Given the description of an element on the screen output the (x, y) to click on. 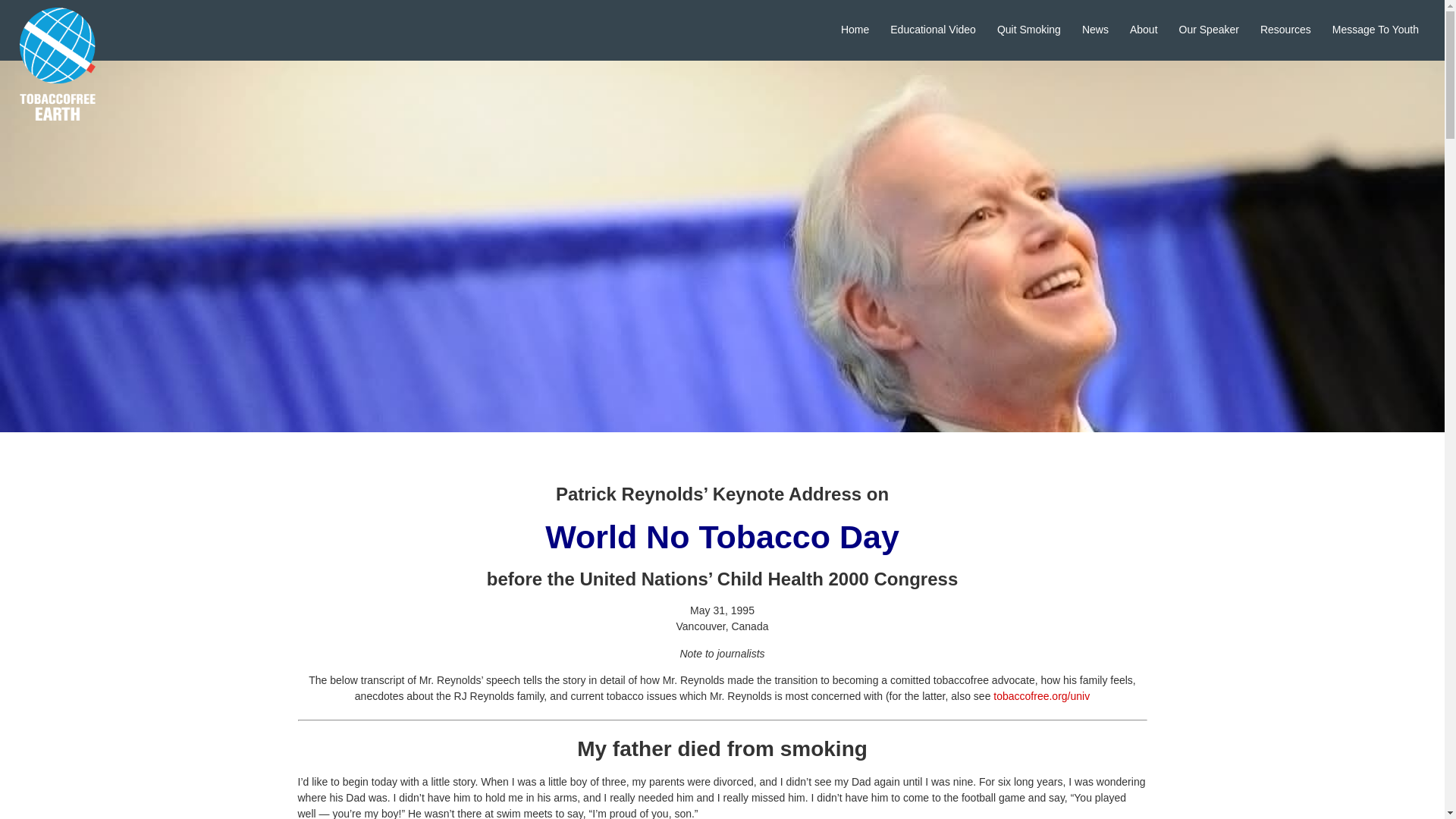
Resources (1285, 29)
Our Speaker (1209, 29)
Quit Smoking (1029, 29)
News (1095, 29)
About (1144, 29)
Home (854, 29)
Educational Video (933, 29)
